Given the description of an element on the screen output the (x, y) to click on. 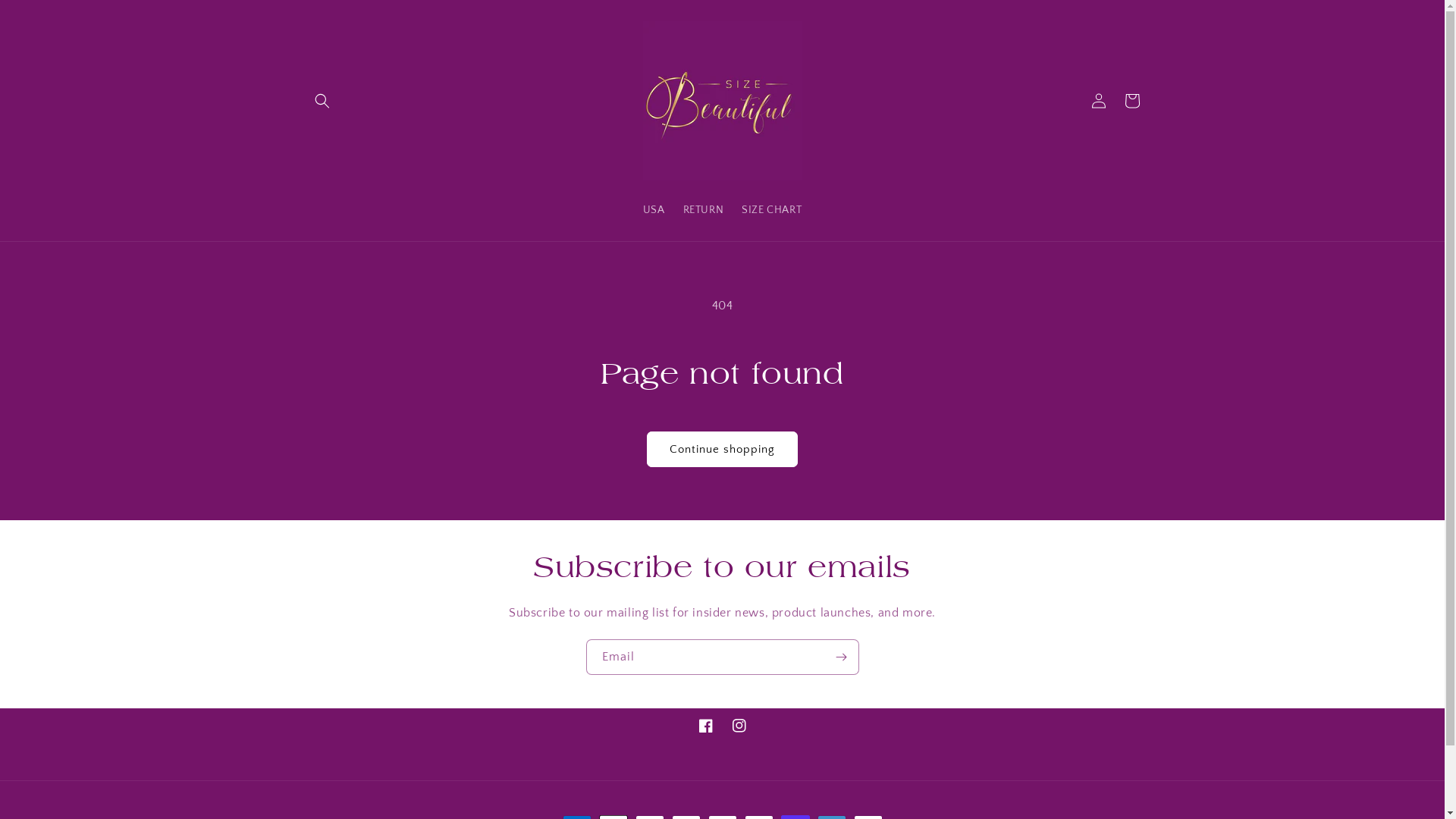
Log in Element type: text (1097, 99)
Facebook Element type: text (704, 725)
SIZE CHART Element type: text (771, 209)
Instagram Element type: text (738, 725)
Continue shopping Element type: text (721, 449)
RETURN Element type: text (703, 209)
Cart Element type: text (1131, 99)
USA Element type: text (653, 209)
